Given the description of an element on the screen output the (x, y) to click on. 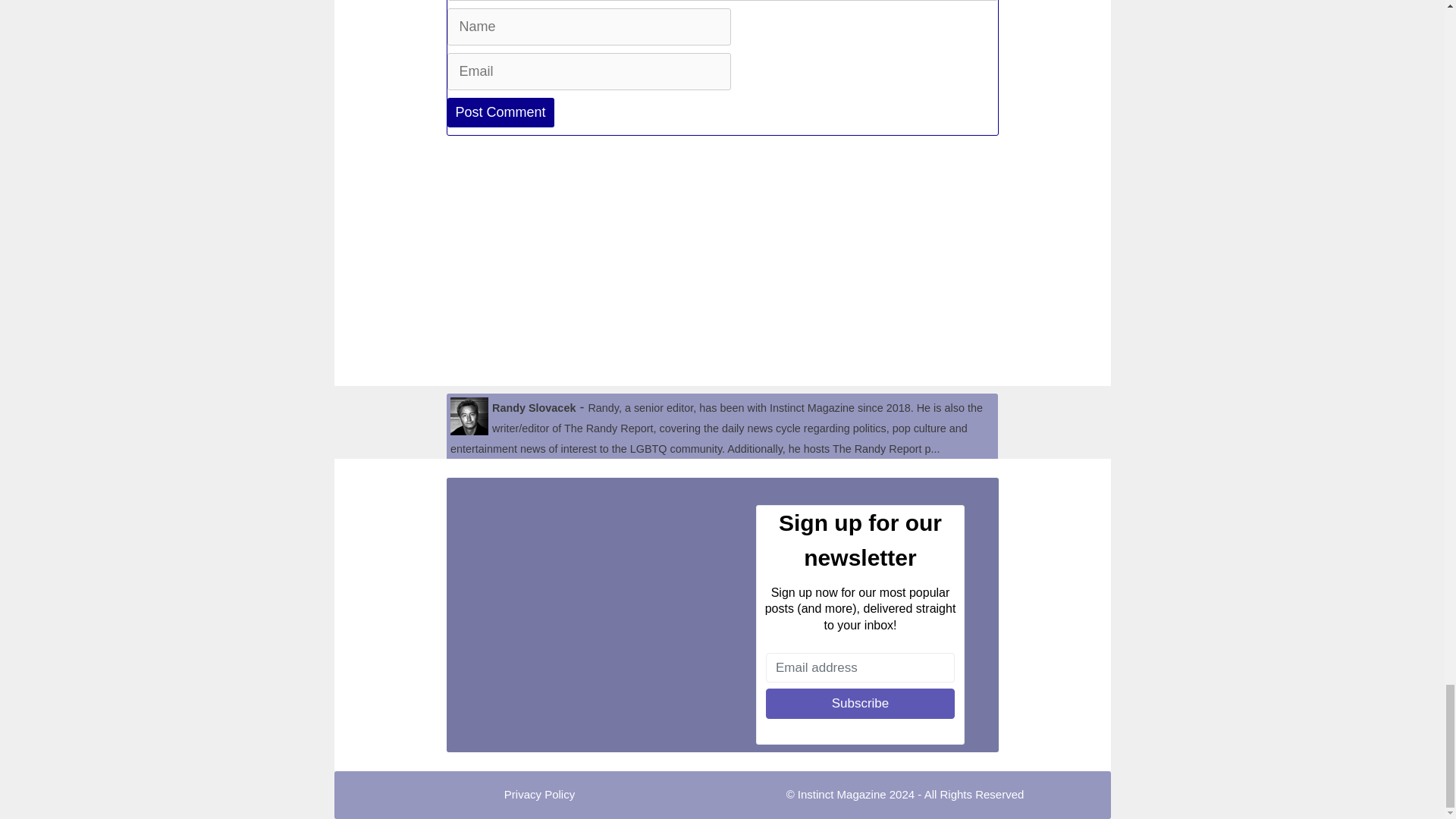
View all posts by Randy Slovacek (533, 408)
Post Comment (500, 112)
Subscribe (860, 703)
